Given the description of an element on the screen output the (x, y) to click on. 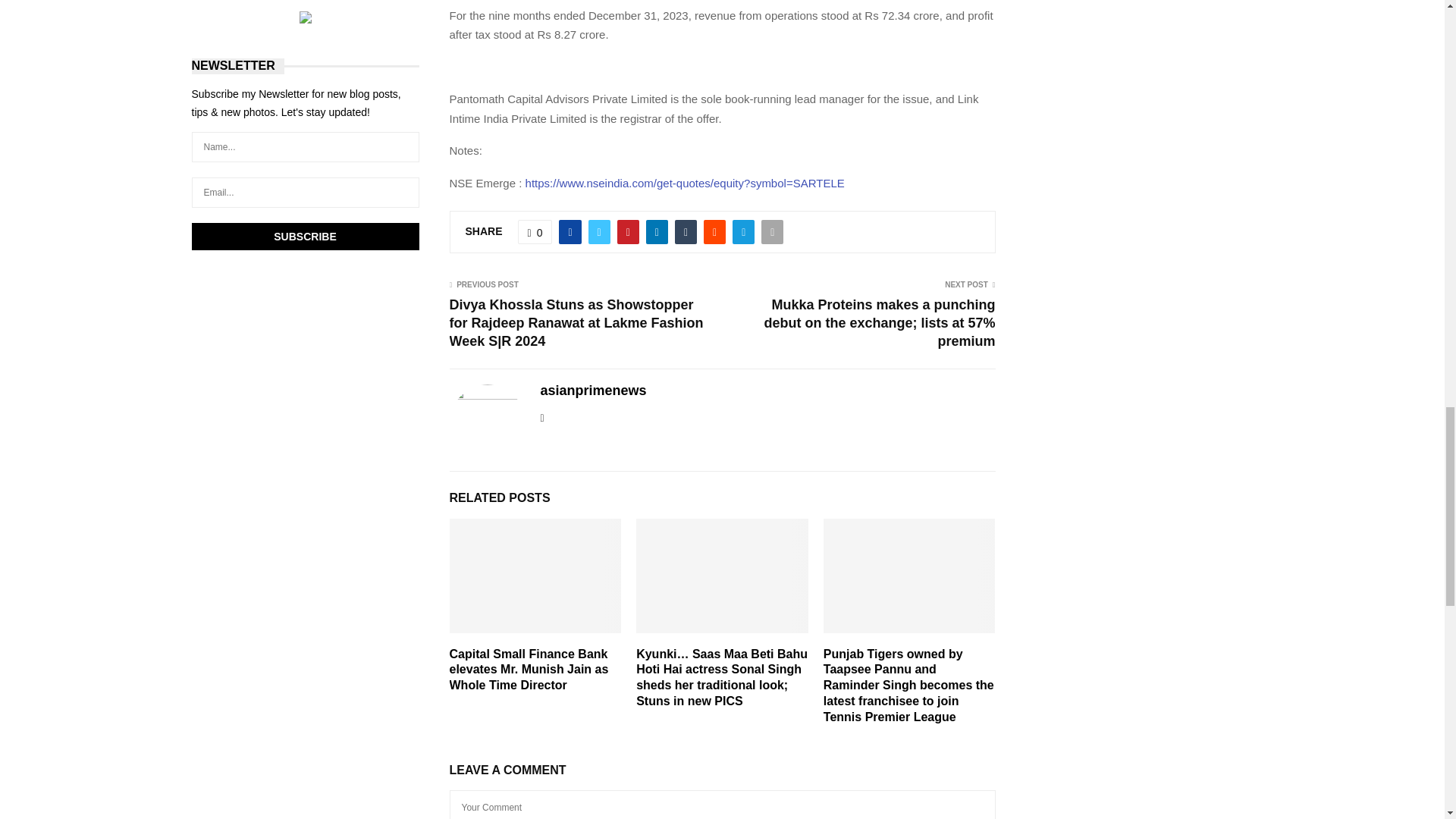
Subscribe (304, 236)
